Given the description of an element on the screen output the (x, y) to click on. 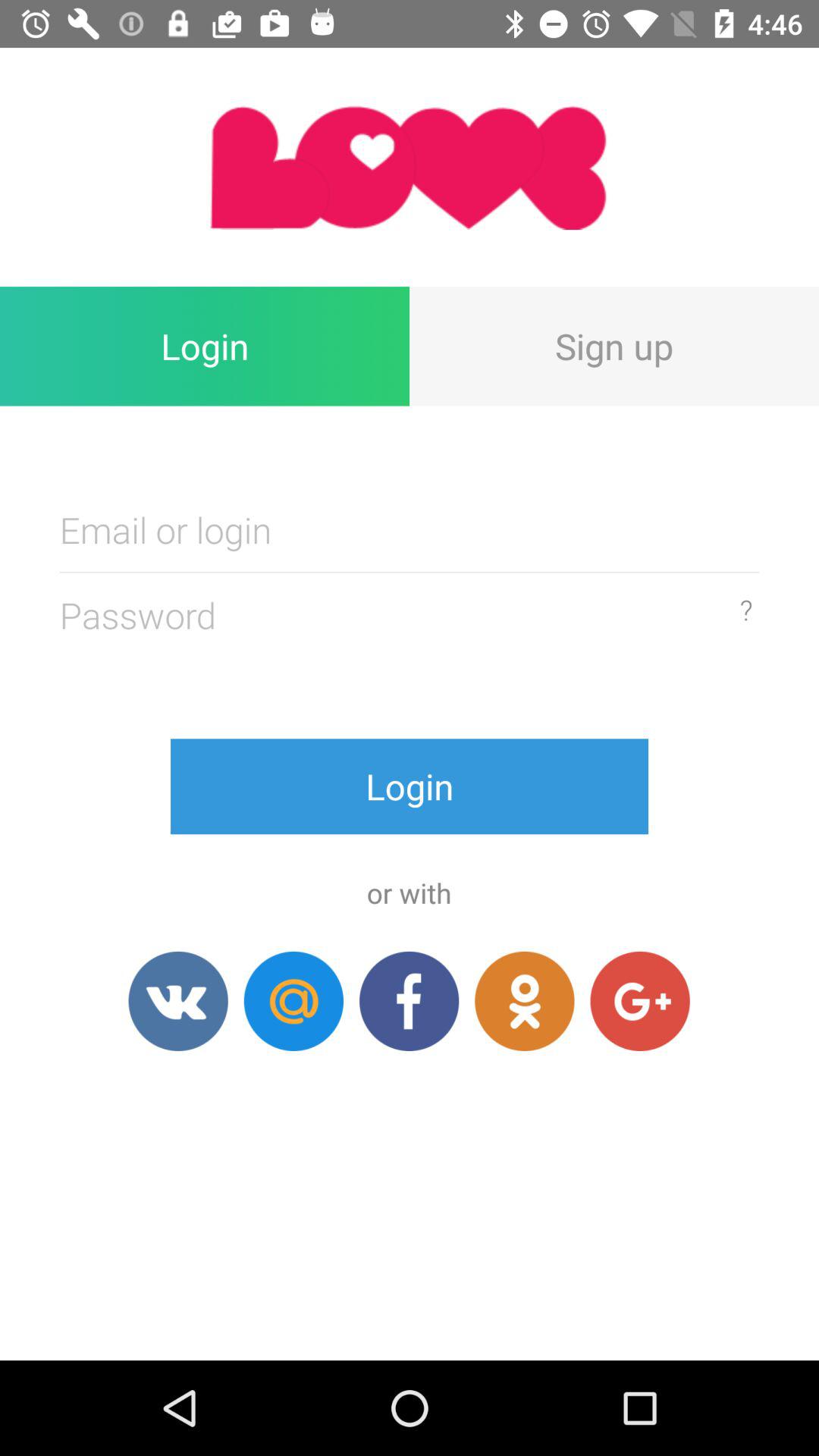
click item below the login (639, 1001)
